Given the description of an element on the screen output the (x, y) to click on. 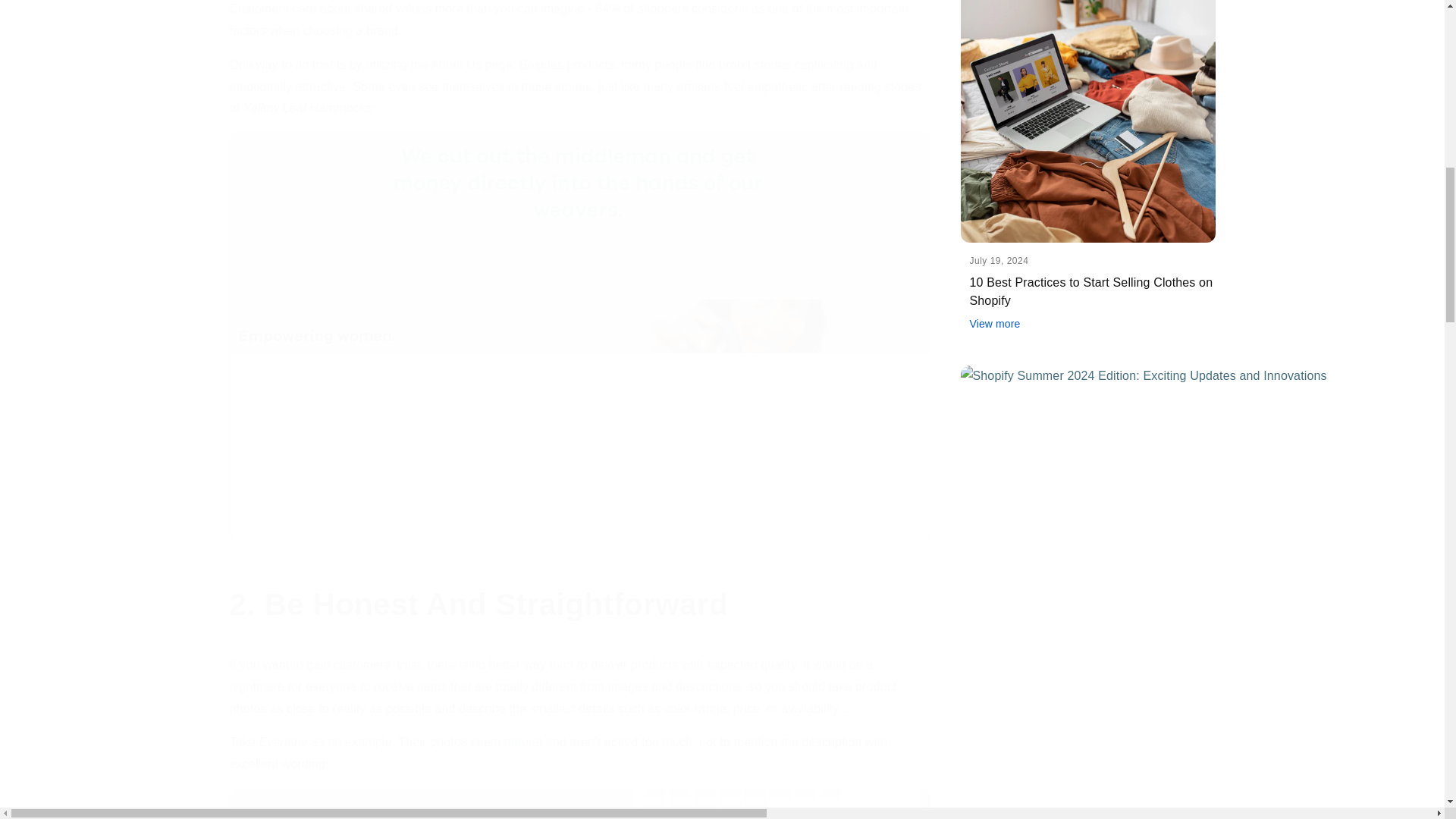
2. Excellent Product Photos Of Everlane.png (579, 803)
